Given the description of an element on the screen output the (x, y) to click on. 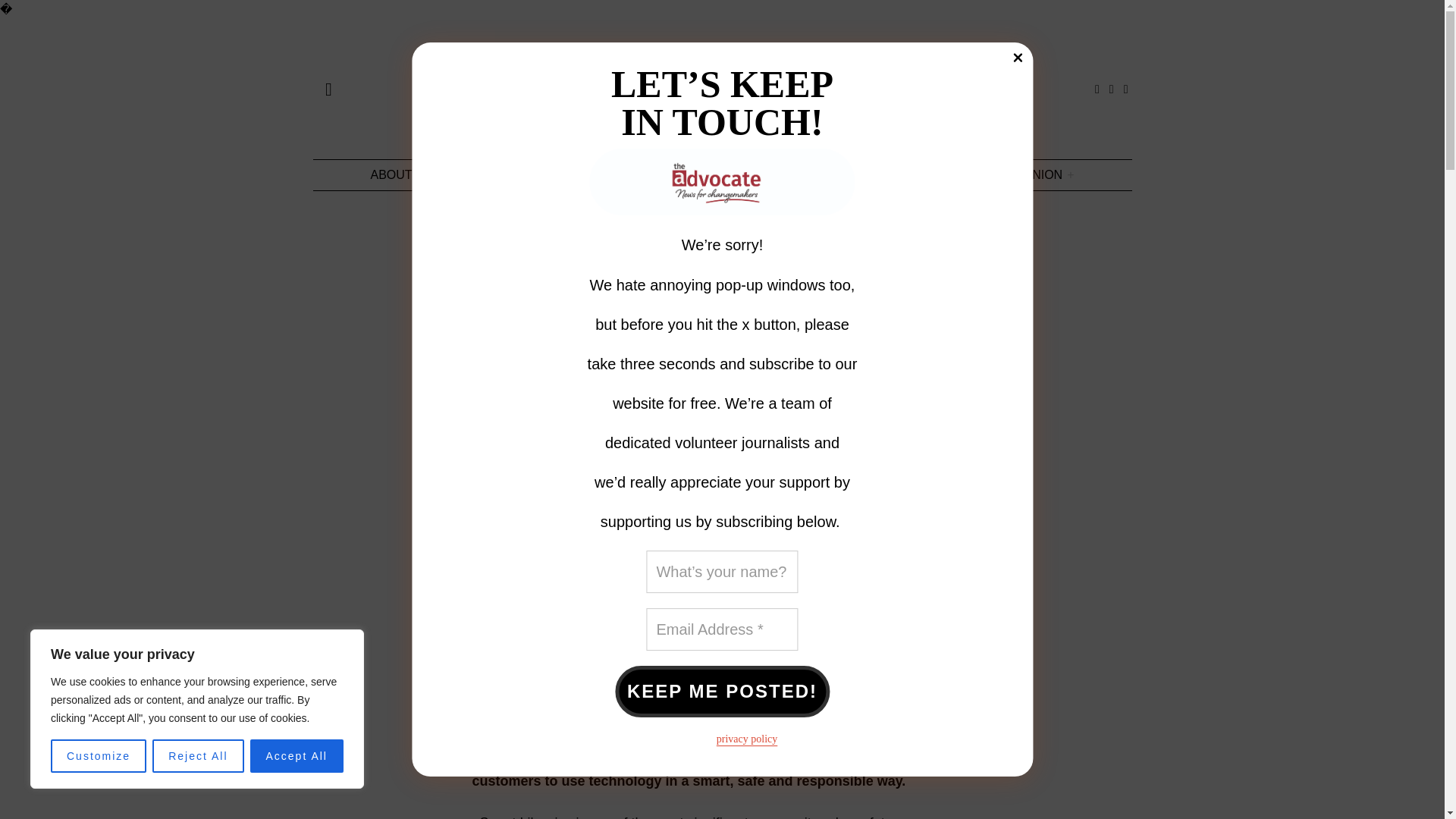
OPINION (1042, 174)
COMMUNITY (656, 174)
ABOUT US (400, 174)
ENVIRONMENT (851, 174)
Customize (98, 756)
Reject All (197, 756)
HEALTH (749, 174)
Accept All (296, 756)
Keep me posted! (721, 691)
Keep me posted! (721, 691)
privacy policy (746, 738)
Ryan Fritz (546, 399)
Email Address (721, 629)
POLITICS (956, 174)
UNCATEGORIZED (520, 229)
